Given the description of an element on the screen output the (x, y) to click on. 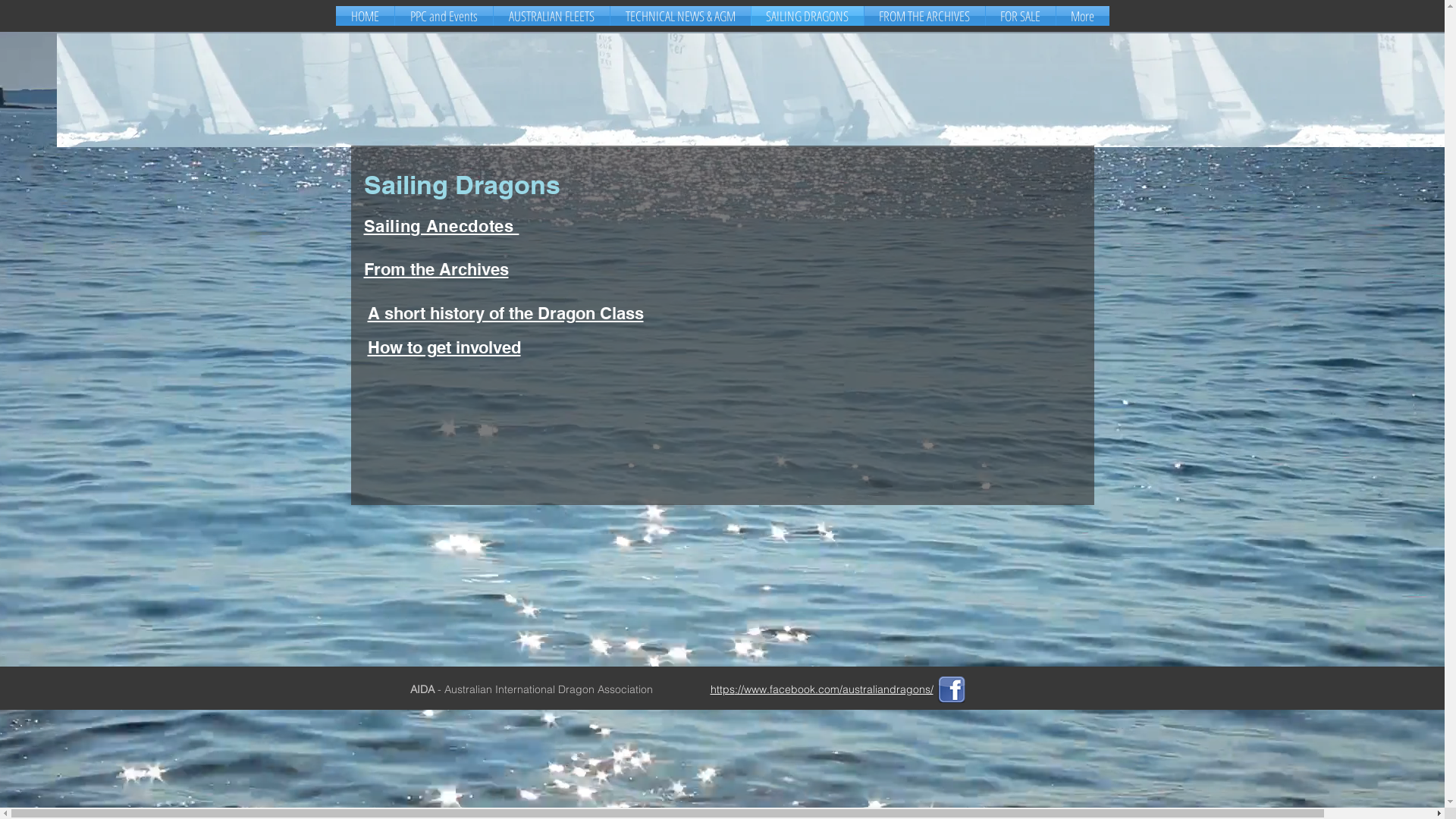
AUSTRALIAN FLEETS Element type: text (550, 15)
://www.facebook.com/australiandragons/ Element type: text (833, 689)
How to get involved Element type: text (443, 347)
A short history of the Dragon Class Element type: text (505, 313)
SAILING DRAGONS Element type: text (806, 15)
From the Archives Element type: text (436, 269)
FOR SALE Element type: text (1020, 15)
PPC and Events Element type: text (443, 15)
HOME Element type: text (364, 15)
FROM THE ARCHIVES Element type: text (924, 15)
TECHNICAL NEWS & AGM Element type: text (679, 15)
Sailing Anecdotes  Element type: text (441, 225)
https Element type: text (721, 689)
